Given the description of an element on the screen output the (x, y) to click on. 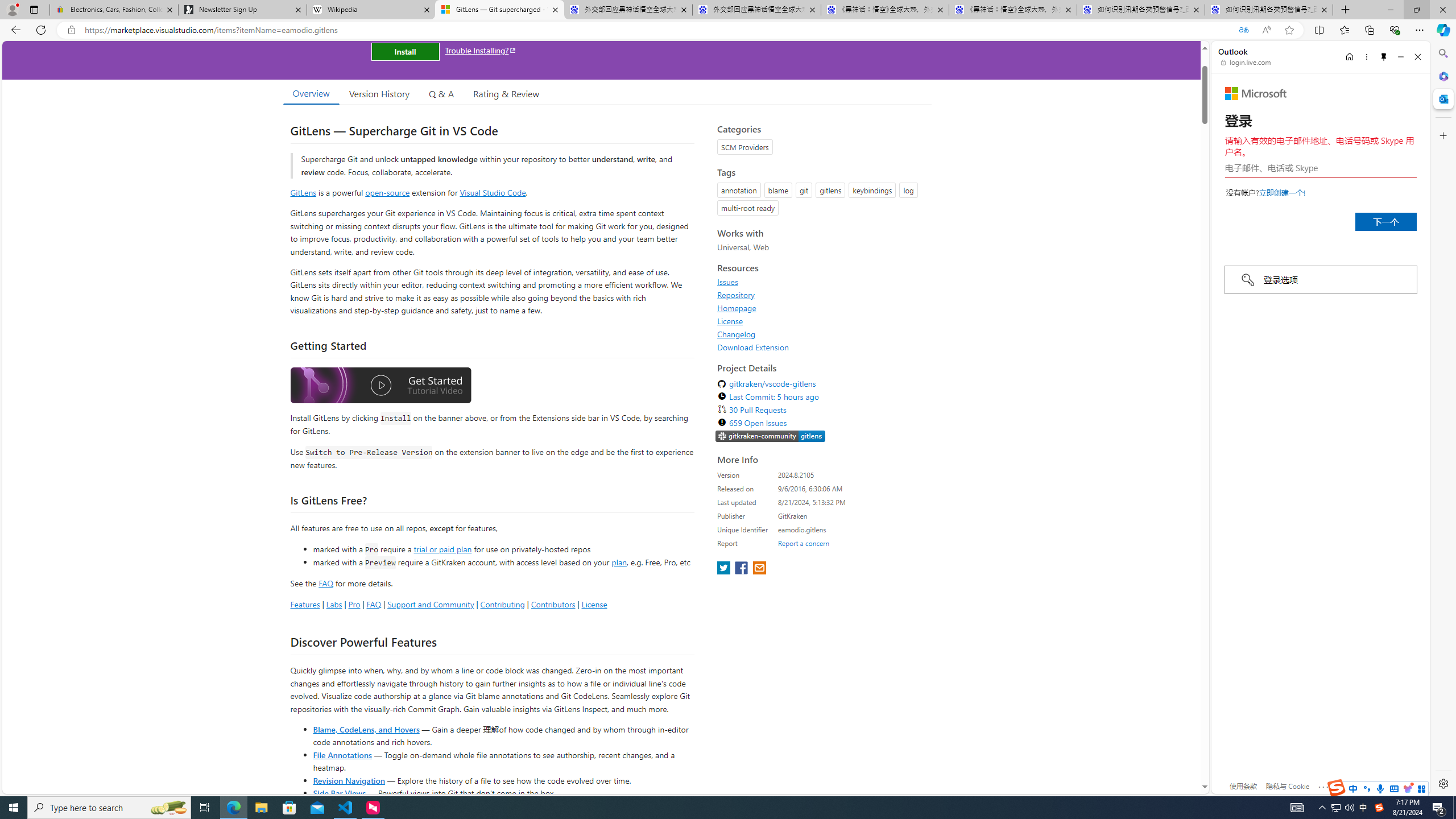
plan (618, 562)
